Given the description of an element on the screen output the (x, y) to click on. 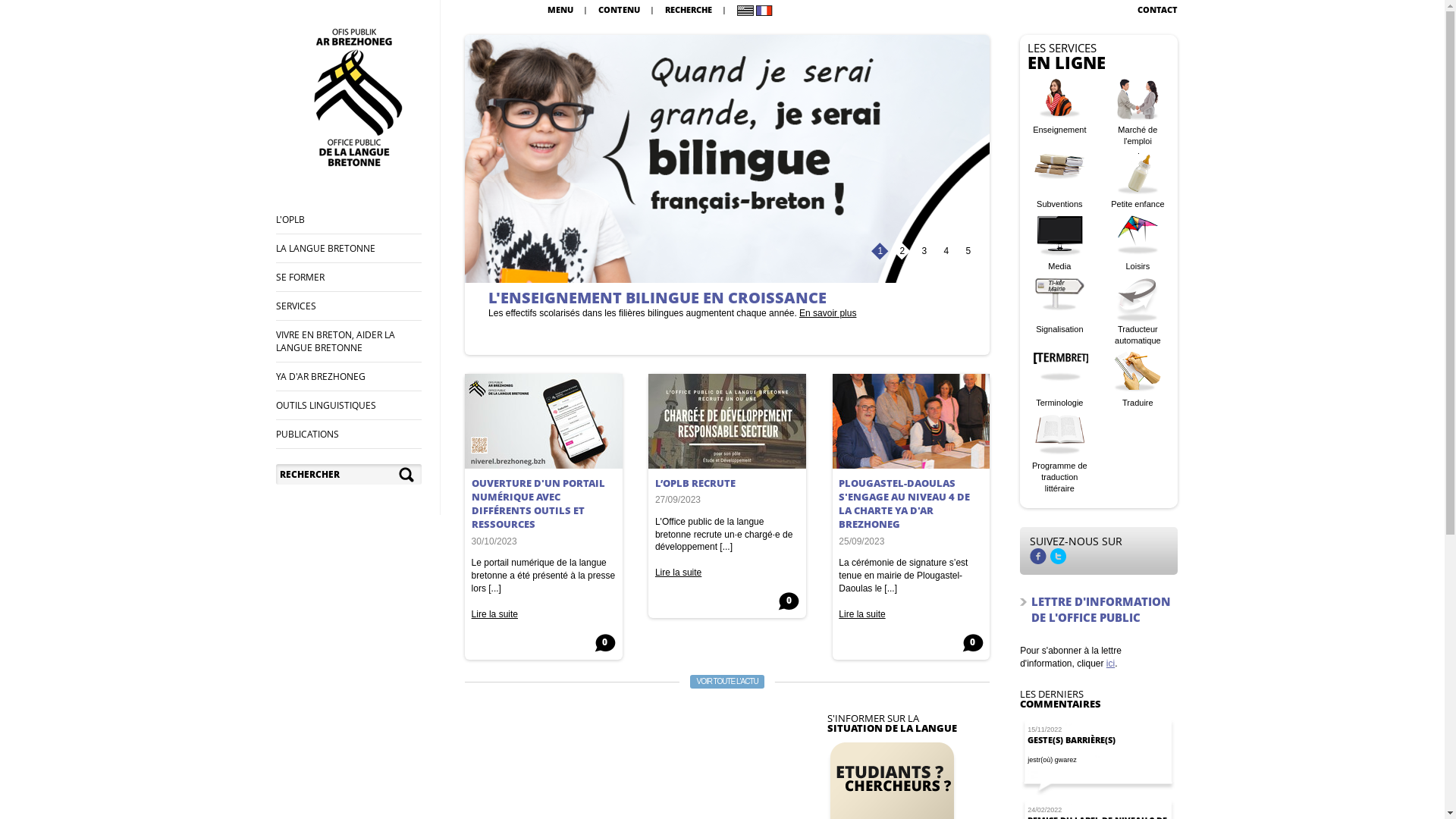
lancer la recherche Element type: hover (407, 474)
Lire la suite Element type: text (494, 613)
L'OPLB Element type: text (290, 219)
Enseignement Element type: text (1059, 106)
Terminologie Element type: text (1059, 379)
En savoir plus Element type: text (646, 323)
LA LANGUE BRETONNE Element type: text (325, 247)
Media Element type: text (1059, 243)
VOIR TOUTE L'ACTU Element type: text (726, 681)
CONTENU Element type: text (619, 9)
4 Element type: text (945, 252)
Lire la suite Element type: text (678, 572)
Lire la suite Element type: text (861, 613)
3 Element type: text (923, 252)
OUTILS LINGUISTIQUES Element type: text (326, 404)
MENU Element type: text (560, 9)
Traduire Element type: text (1137, 379)
SE FORMER Element type: text (300, 276)
RECHERCHE Element type: text (688, 9)
OK Element type: text (407, 474)
2 Element type: text (901, 252)
SERVICES Element type: text (296, 305)
Traducteur automatique Element type: text (1137, 312)
Loisirs Element type: text (1137, 243)
Signalisation Element type: text (1059, 306)
VIVRE EN BRETON, AIDER LA LANGUE BRETONNE Element type: text (335, 341)
ici Element type: text (1110, 663)
1 Element type: text (879, 252)
Petite enfance Element type: text (1137, 181)
5 Element type: text (967, 252)
YA D'AR BREZHONEG Element type: text (320, 376)
CONTACT Element type: text (1157, 9)
PUBLICATIONS Element type: text (307, 433)
Subventions Element type: text (1059, 181)
